Given the description of an element on the screen output the (x, y) to click on. 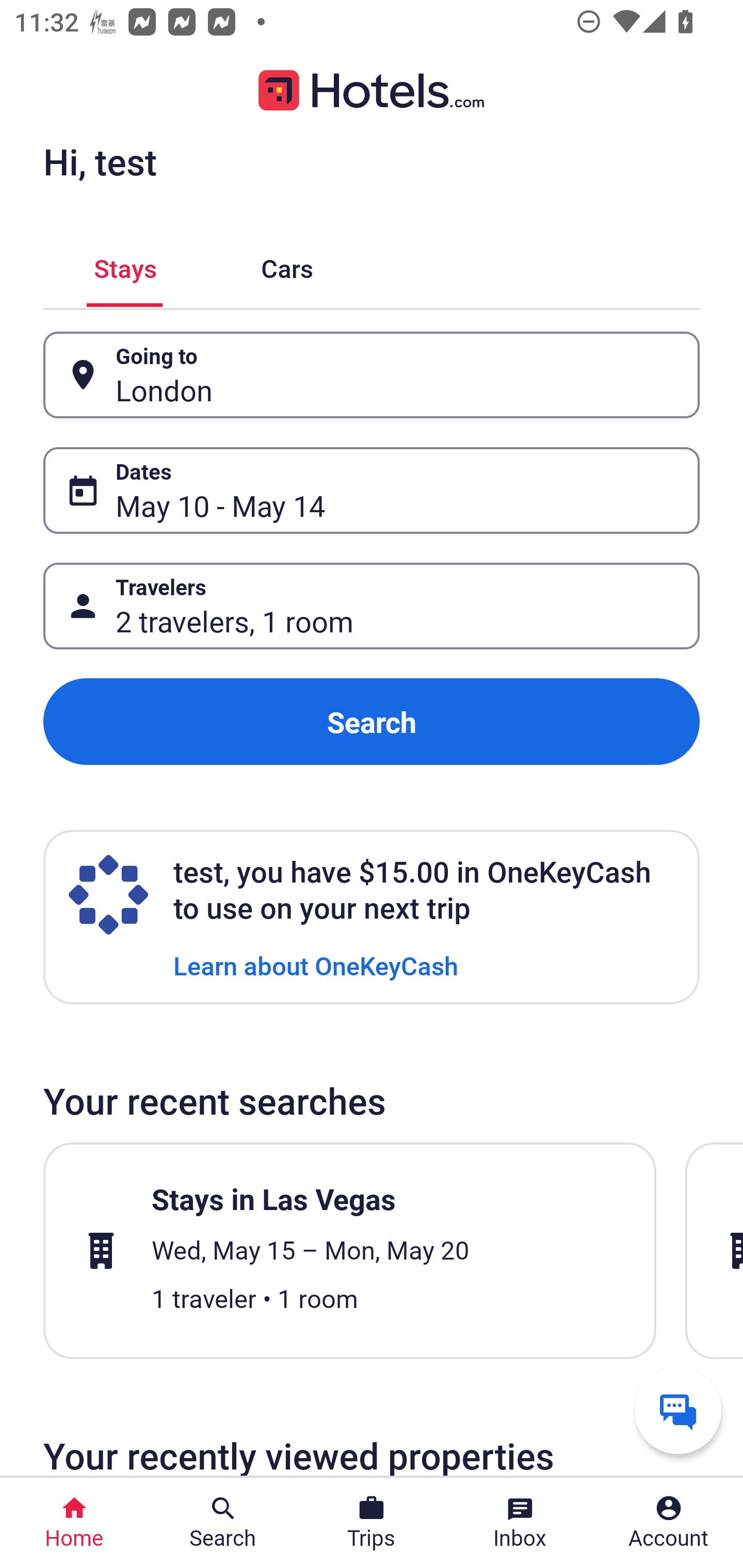
Hi, test (99, 161)
Cars (286, 265)
Going to Button London (371, 375)
Dates Button May 10 - May 14 (371, 489)
Travelers Button 2 travelers, 1 room (371, 605)
Search (371, 721)
Learn about OneKeyCash Learn about OneKeyCash Link (315, 964)
Get help from a virtual agent (677, 1410)
Search Search Button (222, 1522)
Trips Trips Button (371, 1522)
Inbox Inbox Button (519, 1522)
Account Profile. Button (668, 1522)
